Given the description of an element on the screen output the (x, y) to click on. 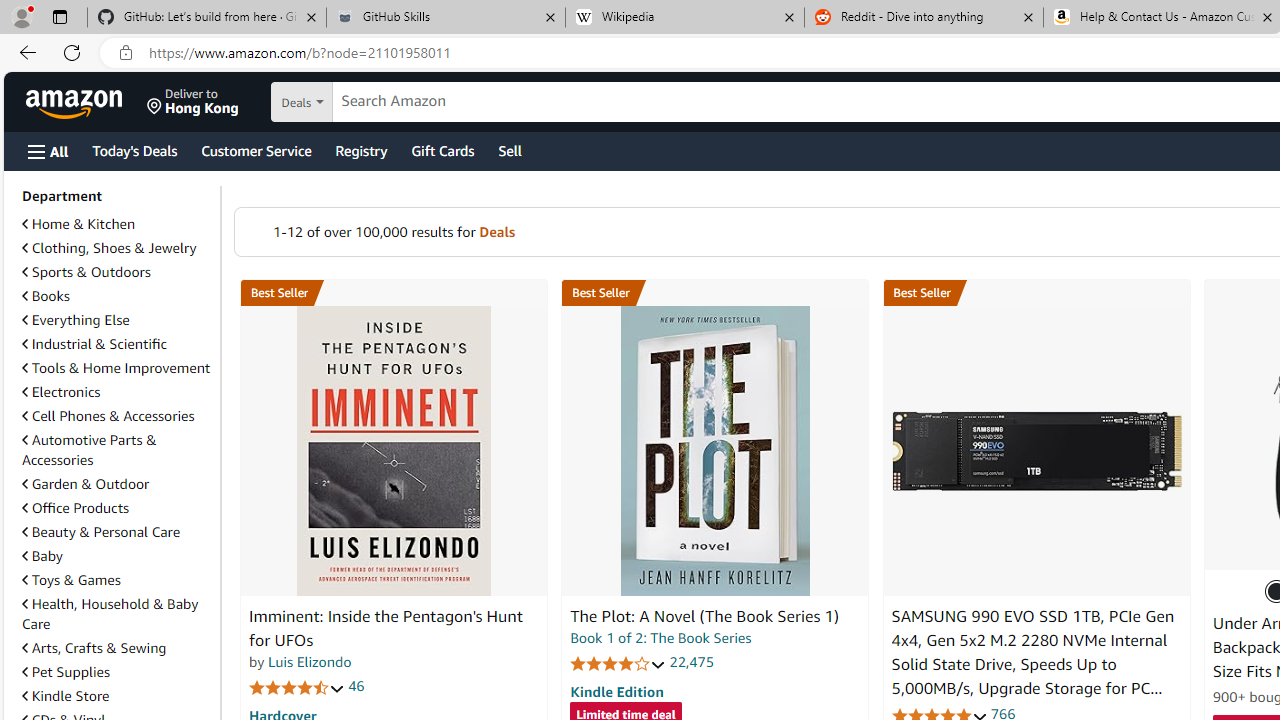
Search in (371, 102)
Amazon (76, 101)
Pet Supplies (65, 672)
Kindle Store (117, 696)
Open Menu (48, 151)
Beauty & Personal Care (117, 532)
Sports & Outdoors (86, 271)
Books (117, 295)
Clothing, Shoes & Jewelry (117, 247)
22,475 (691, 662)
The Plot: A Novel (The Book Series 1) (703, 616)
Cell Phones & Accessories (107, 415)
Today's Deals (134, 150)
